Given the description of an element on the screen output the (x, y) to click on. 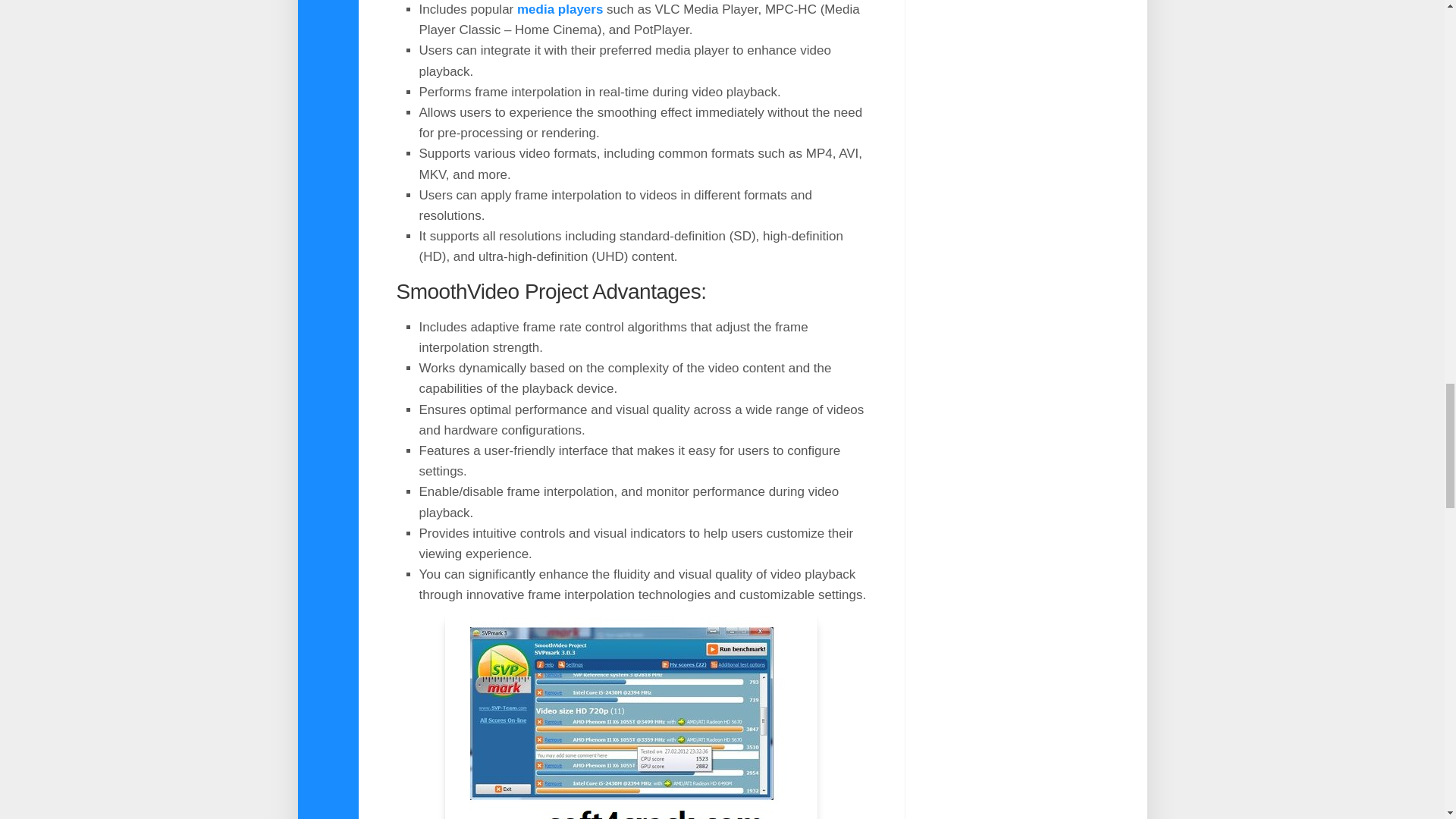
media players (559, 9)
